Given the description of an element on the screen output the (x, y) to click on. 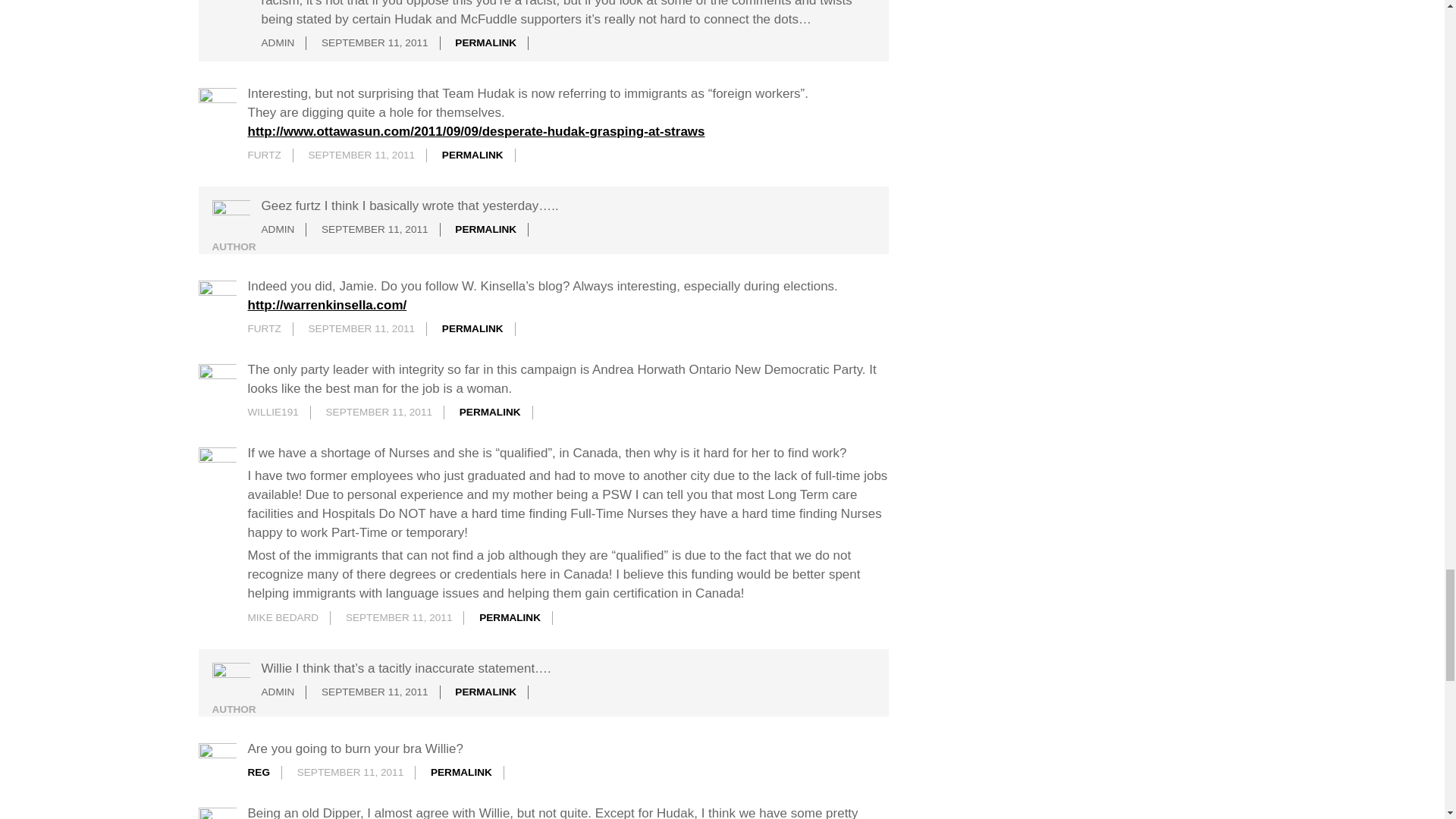
Sunday, September 11, 2011, 2:57 pm (379, 411)
Sunday, September 11, 2011, 6:16 am (374, 42)
Sunday, September 11, 2011, 11:05 am (374, 229)
Sunday, September 11, 2011, 9:15 am (361, 154)
Sunday, September 11, 2011, 1:07 pm (361, 328)
